Given the description of an element on the screen output the (x, y) to click on. 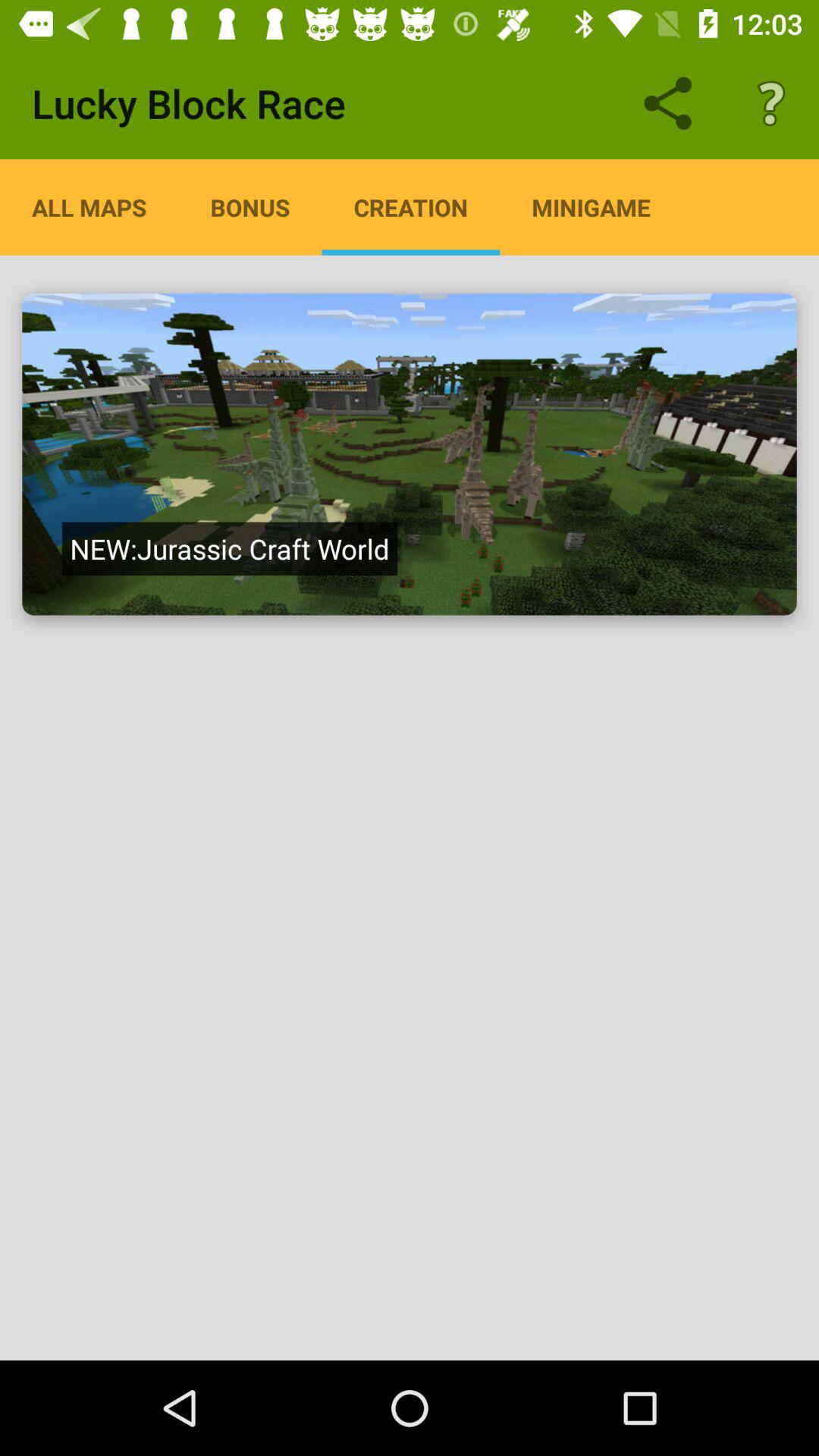
scroll to all maps item (89, 207)
